Given the description of an element on the screen output the (x, y) to click on. 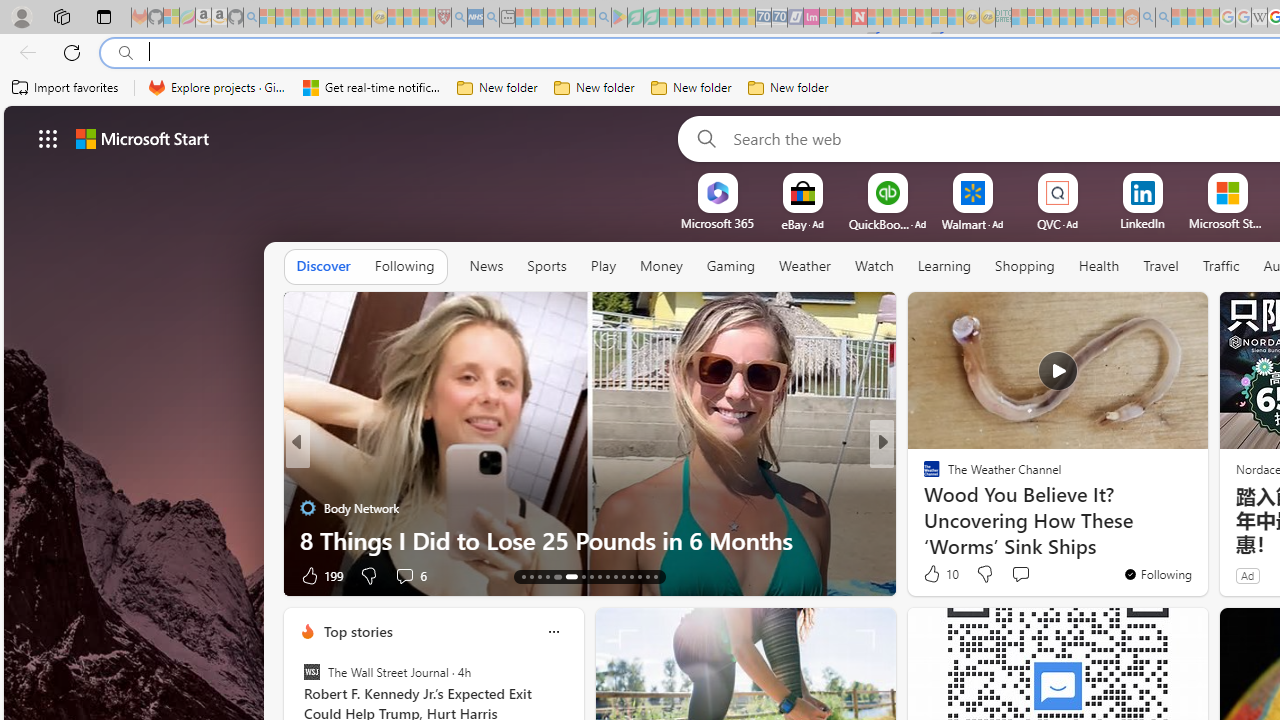
Traffic (1220, 267)
Sports (546, 267)
Terms of Use Agreement - Sleeping (635, 17)
39 Like (934, 574)
Bluey: Let's Play! - Apps on Google Play - Sleeping (619, 17)
207 Like (936, 574)
Kinda Frugal - MSN - Sleeping (1083, 17)
